Given the description of an element on the screen output the (x, y) to click on. 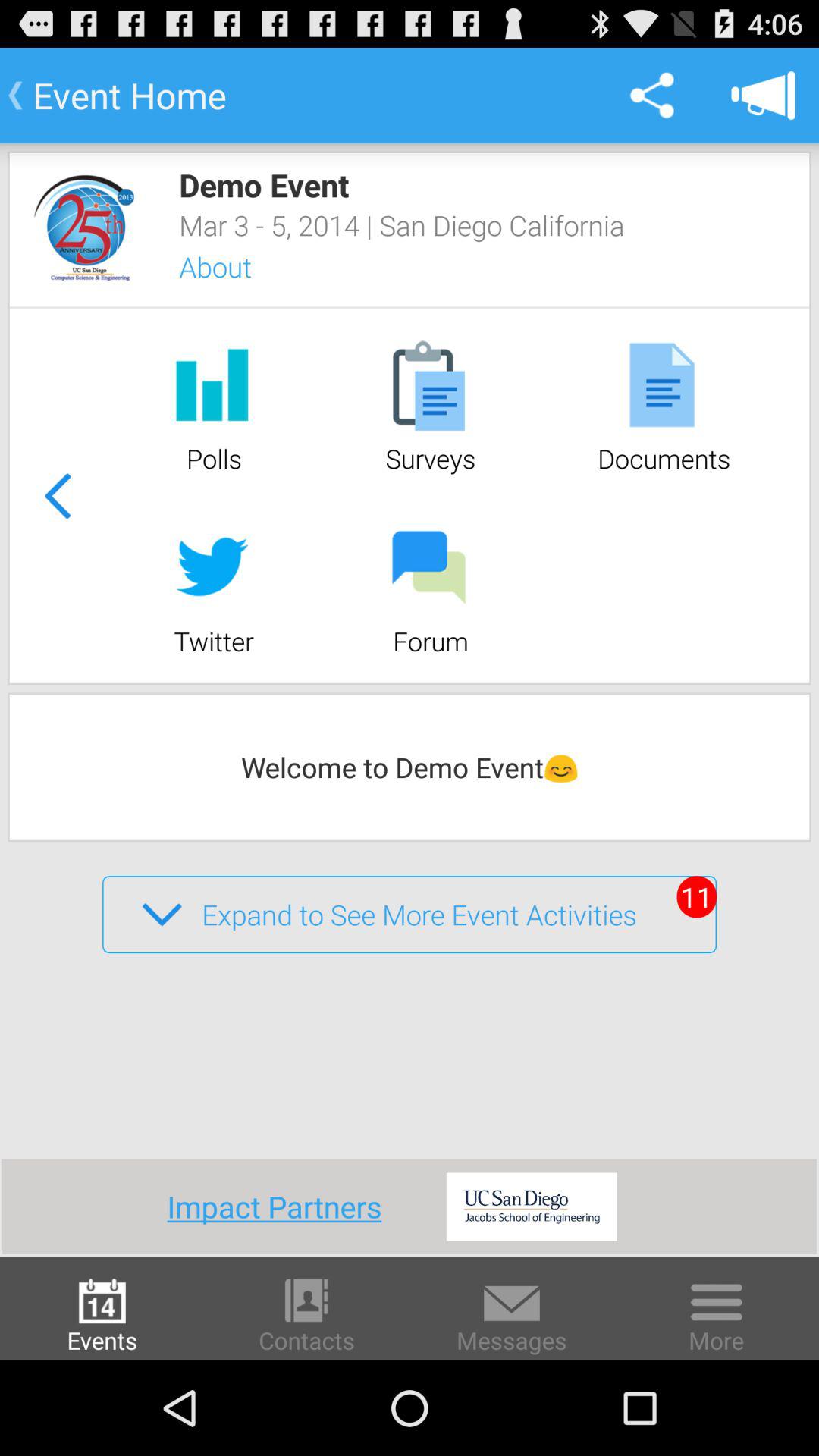
jump to the about icon (235, 267)
